Given the description of an element on the screen output the (x, y) to click on. 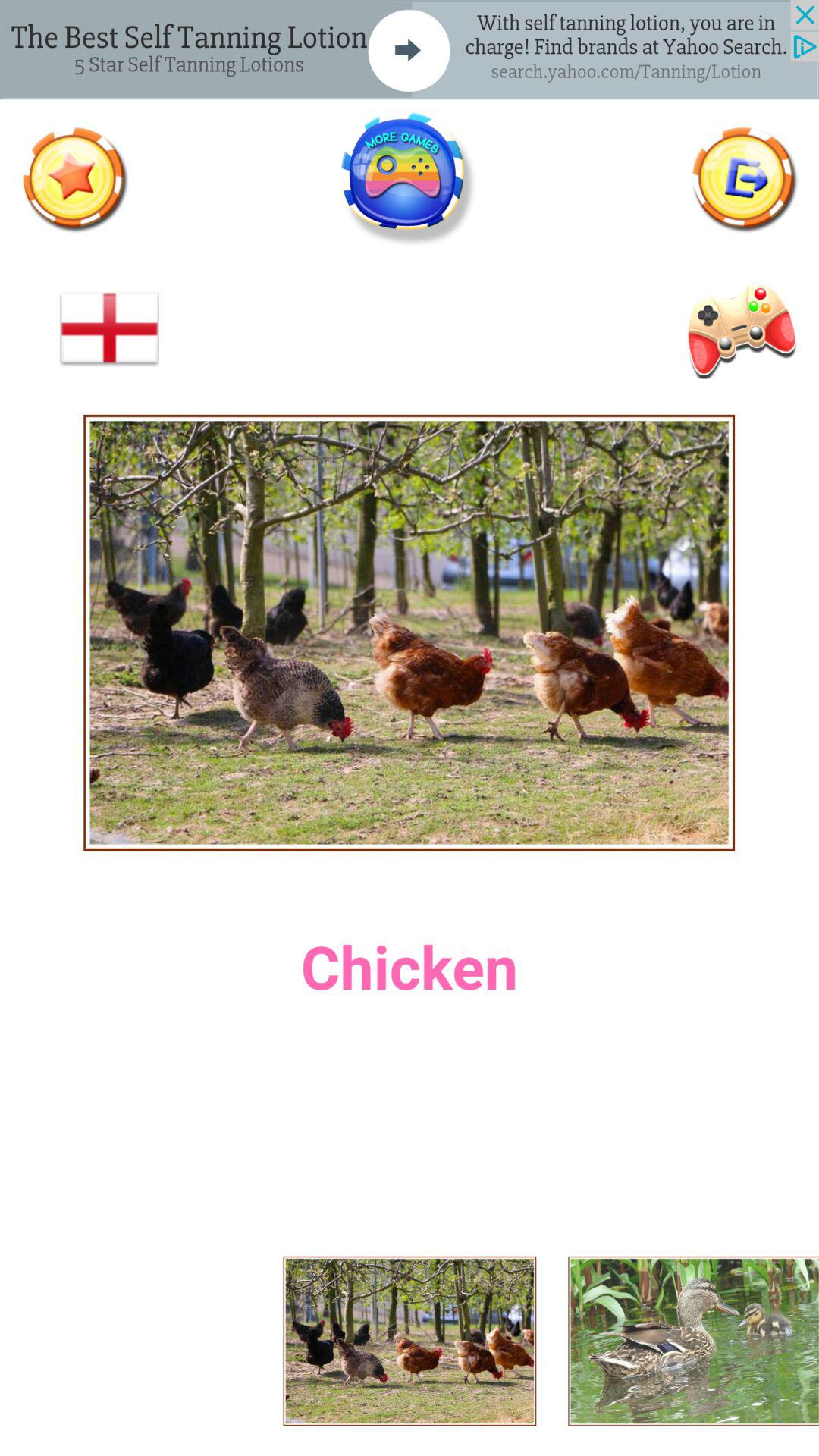
play game (408, 179)
